Given the description of an element on the screen output the (x, y) to click on. 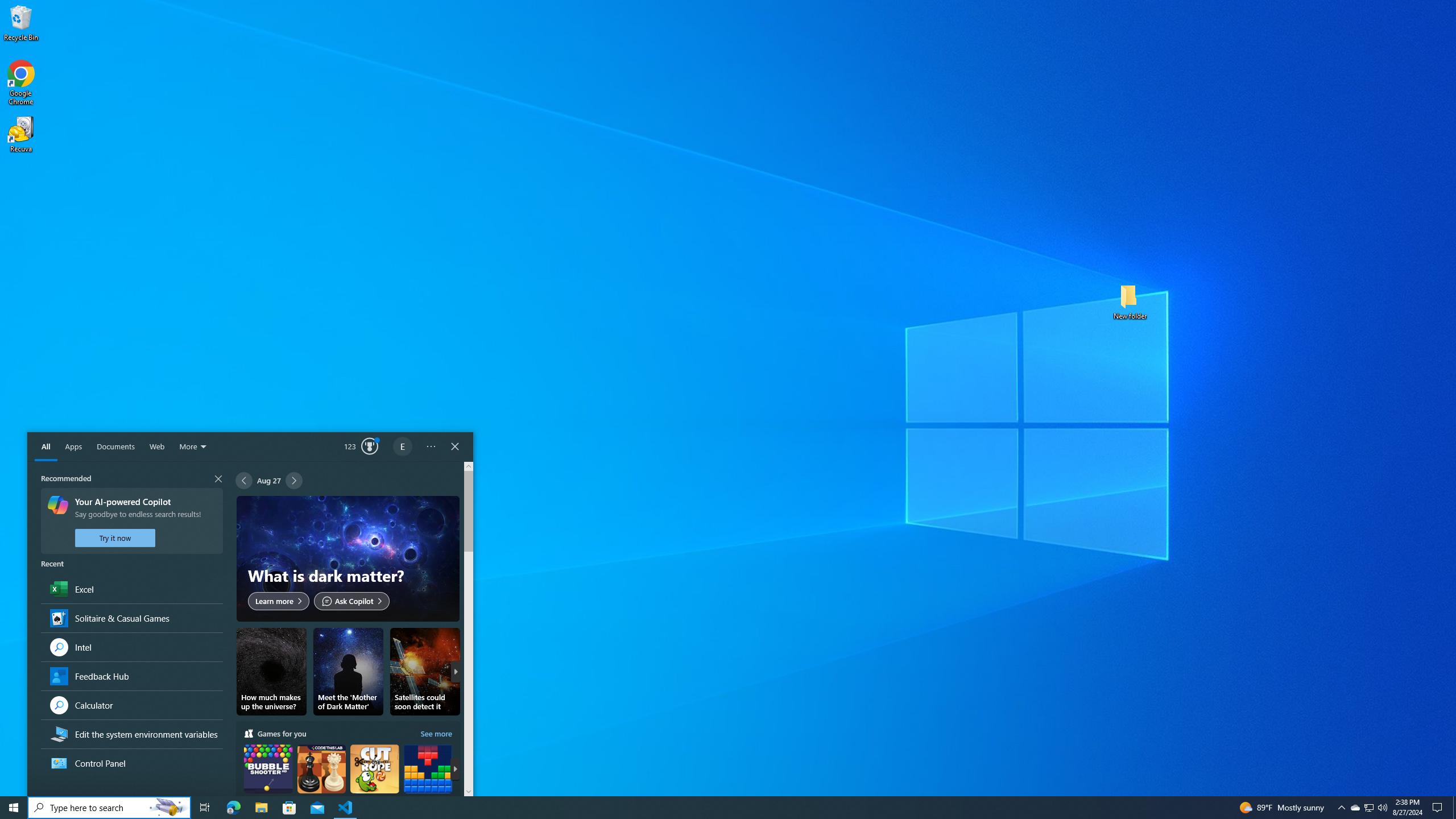
Master Chess (321, 778)
What is dark matter? (347, 558)
Recent Group,Excel, App (131, 588)
Satellites could soon detect it (425, 671)
Microsoft Rewards balance: 123 (361, 447)
Dismiss Recommended (131, 478)
Intel, See more search results (131, 646)
Close Windows Search (454, 447)
Your AI-powered CopilotTry it now (131, 520)
Solitaire & Casual Games, App (131, 617)
EugeneLedger601@outlook.com (403, 447)
next (454, 768)
Search Highlights Icon (167, 807)
